Given the description of an element on the screen output the (x, y) to click on. 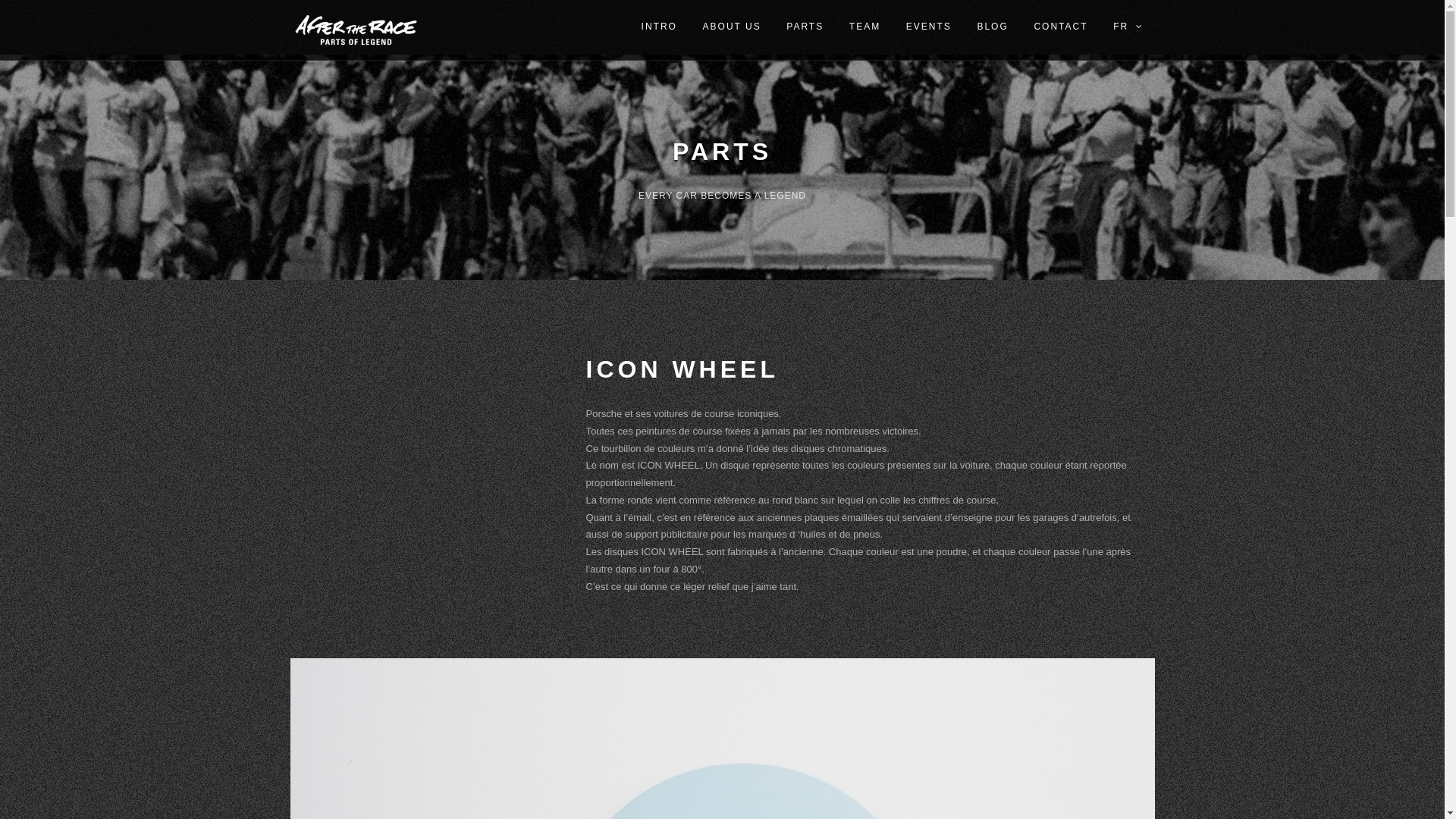
CONTACT Element type: text (1060, 26)
TEAM Element type: text (864, 26)
BLOG Element type: text (991, 26)
INTRO Element type: text (659, 26)
FR Element type: text (1127, 26)
PARTS Element type: text (804, 26)
ABOUT US Element type: text (731, 26)
EVENTS Element type: text (928, 26)
